Given the description of an element on the screen output the (x, y) to click on. 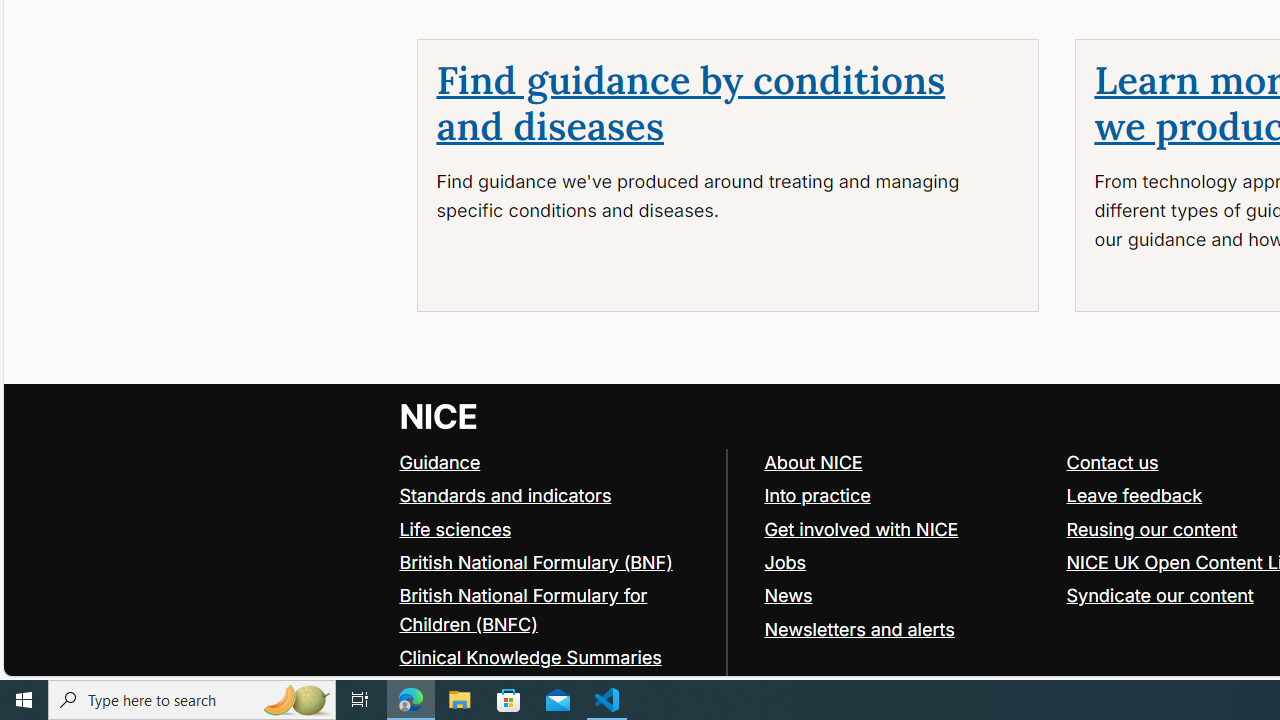
Jobs (906, 562)
Contact us (1112, 461)
Get involved with NICE (861, 528)
About NICE (813, 461)
Newsletters and alerts (859, 628)
Guidance (440, 461)
News (788, 594)
Newsletters and alerts (906, 628)
Into practice (817, 494)
News (906, 596)
Jobs (785, 561)
Into practice (906, 495)
British National Formulary for Children (BNFC) (554, 610)
